Given the description of an element on the screen output the (x, y) to click on. 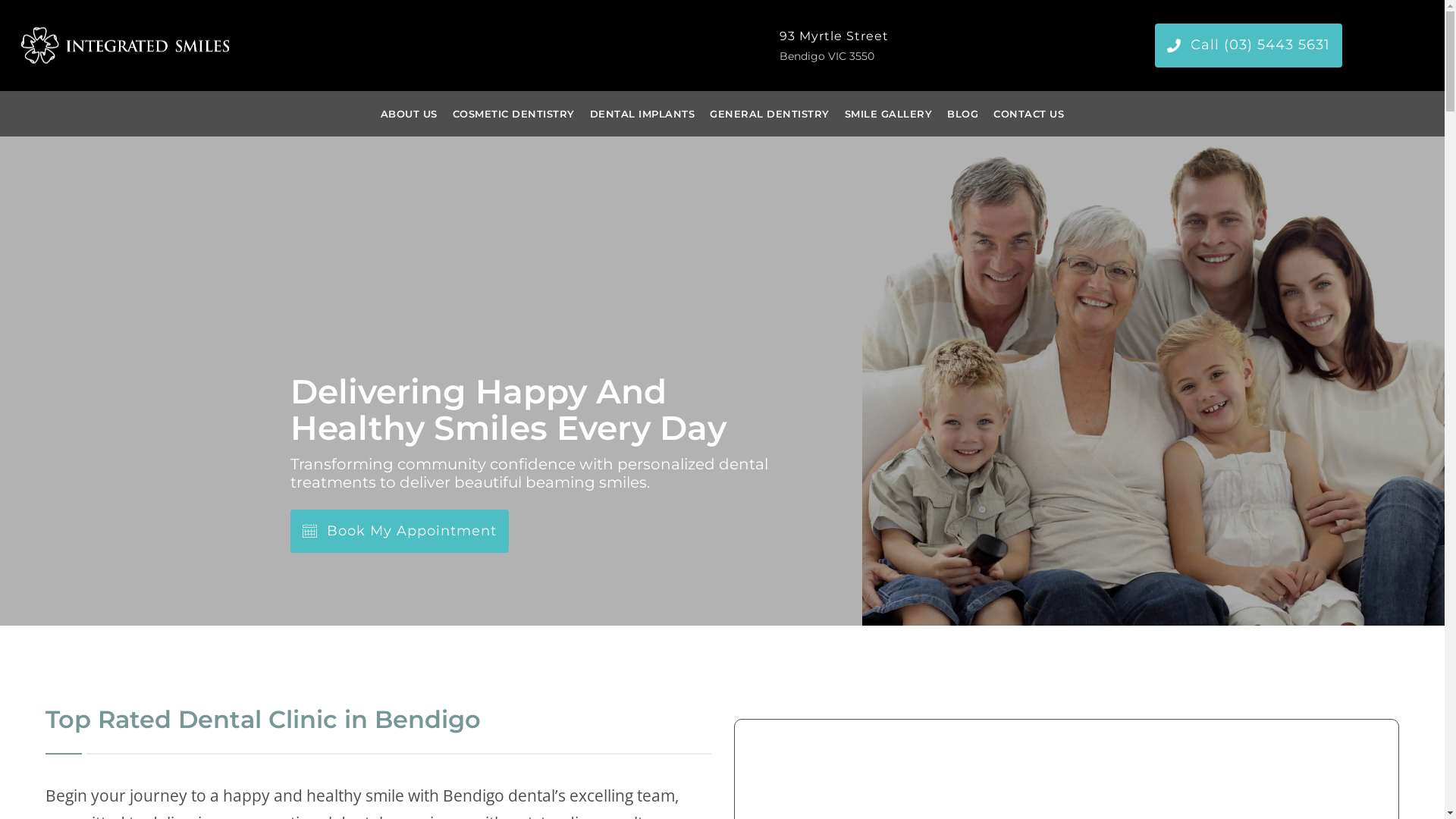
SMILE GALLERY Element type: text (888, 113)
CONTACT US Element type: text (1028, 113)
Book My Appointment Element type: text (398, 530)
GENERAL DENTISTRY Element type: text (769, 113)
BLOG Element type: text (962, 113)
ABOUT US Element type: text (408, 113)
Call (03) 5443 5631 Element type: text (1248, 44)
DENTAL IMPLANTS Element type: text (642, 113)
COSMETIC DENTISTRY Element type: text (513, 113)
